Given the description of an element on the screen output the (x, y) to click on. 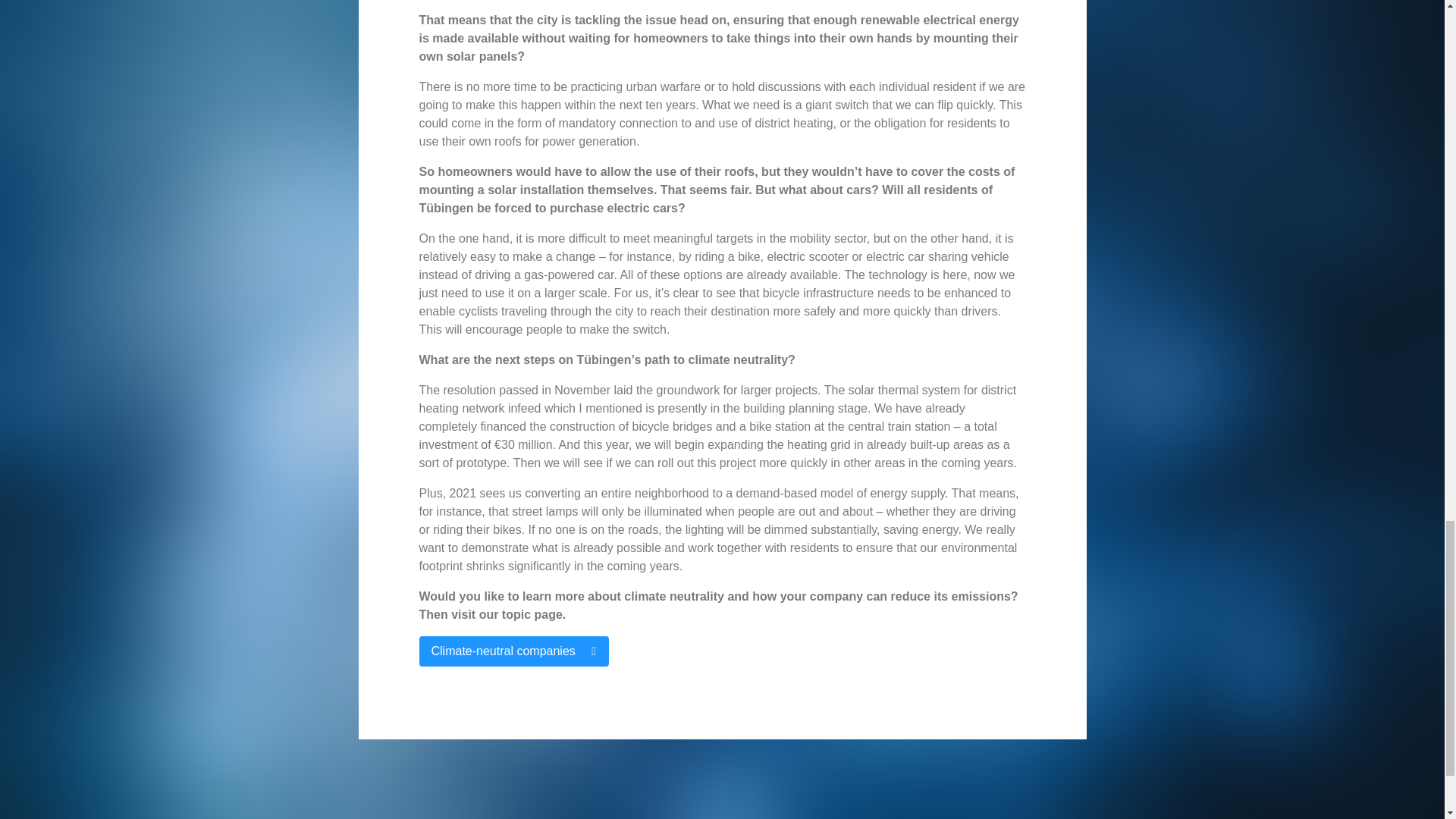
Climate-neutral companies  (513, 651)
